Given the description of an element on the screen output the (x, y) to click on. 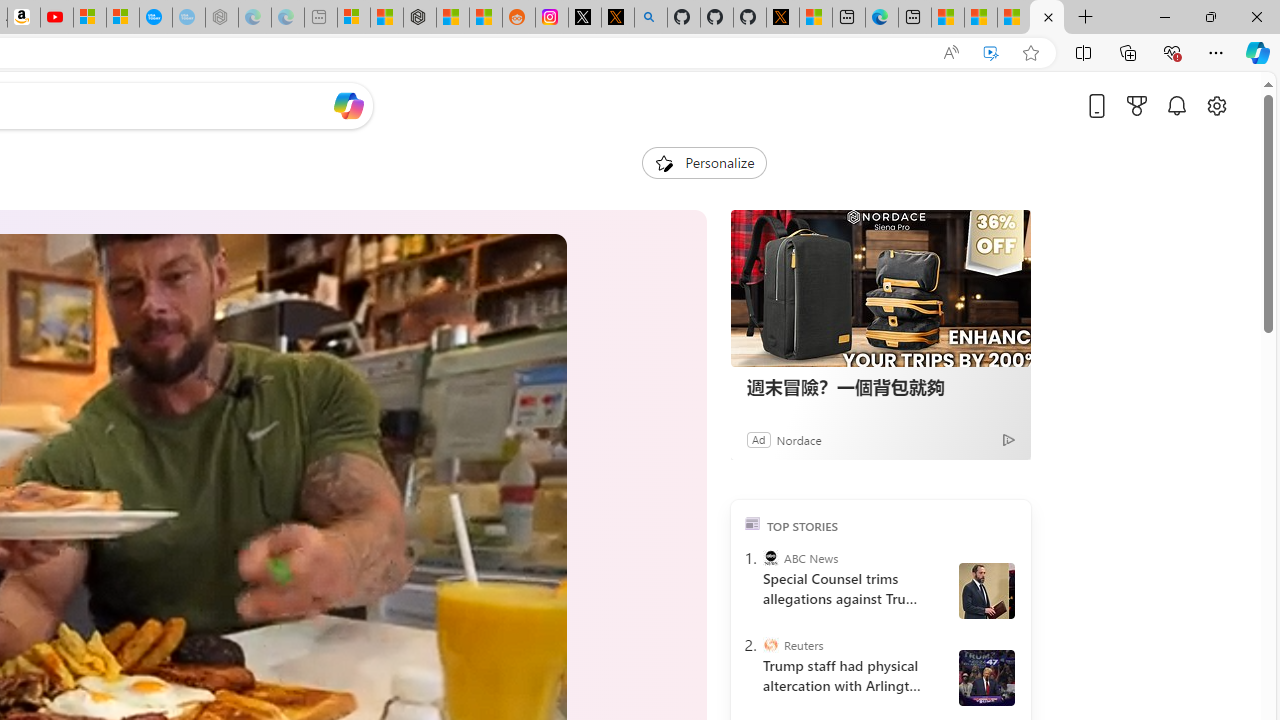
Microsoft account | Microsoft Account Privacy Settings (353, 17)
Microsoft rewards (1137, 105)
MSNBC - MSN (981, 17)
ABC News (770, 557)
Ad (758, 439)
help.x.com | 524: A timeout occurred (617, 17)
Log in to X / X (585, 17)
